Given the description of an element on the screen output the (x, y) to click on. 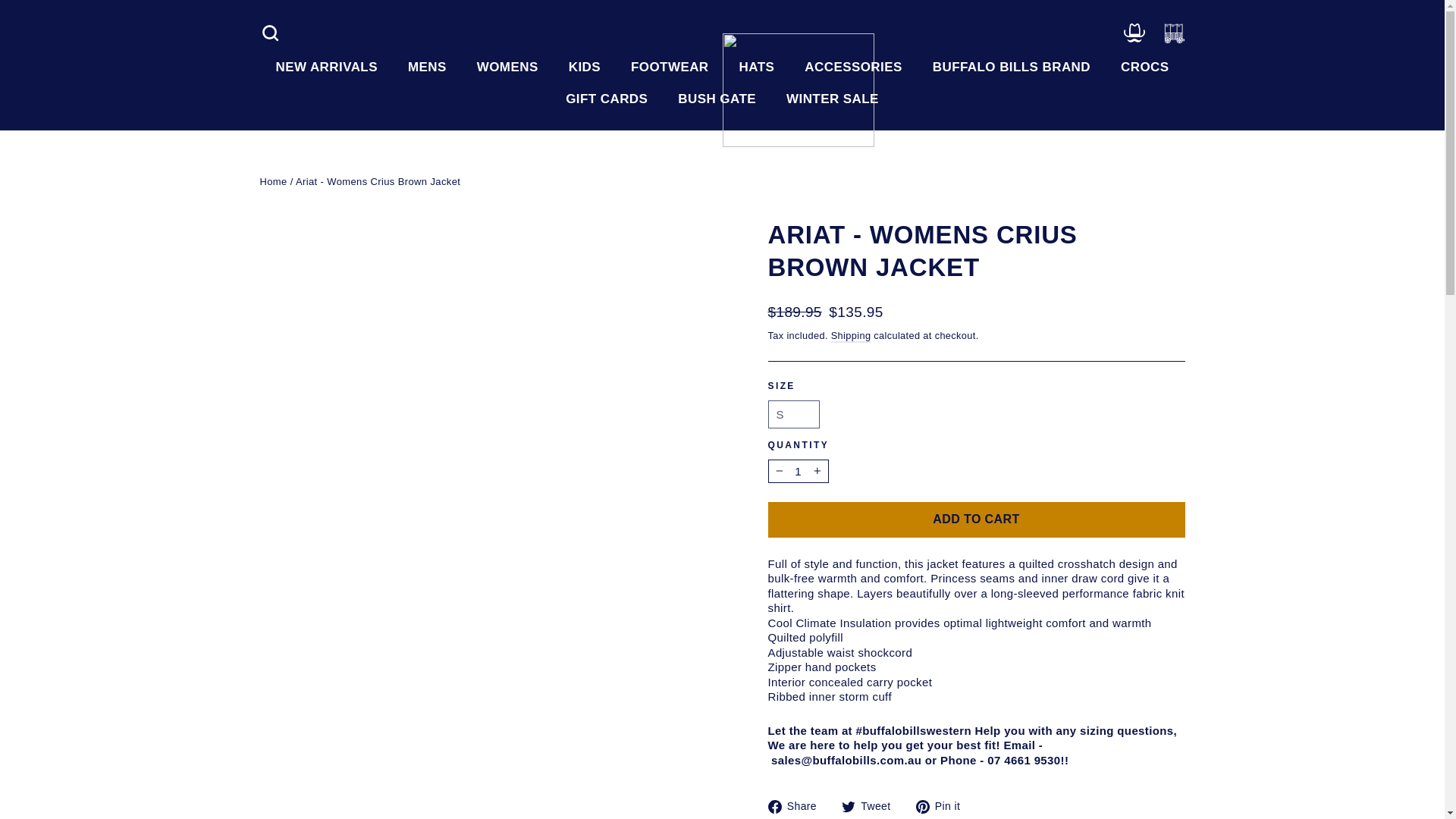
Tweet on Twitter (871, 805)
1 (797, 471)
Pin on Pinterest (943, 805)
Share on Facebook (797, 805)
Back to the frontpage (272, 181)
